Given the description of an element on the screen output the (x, y) to click on. 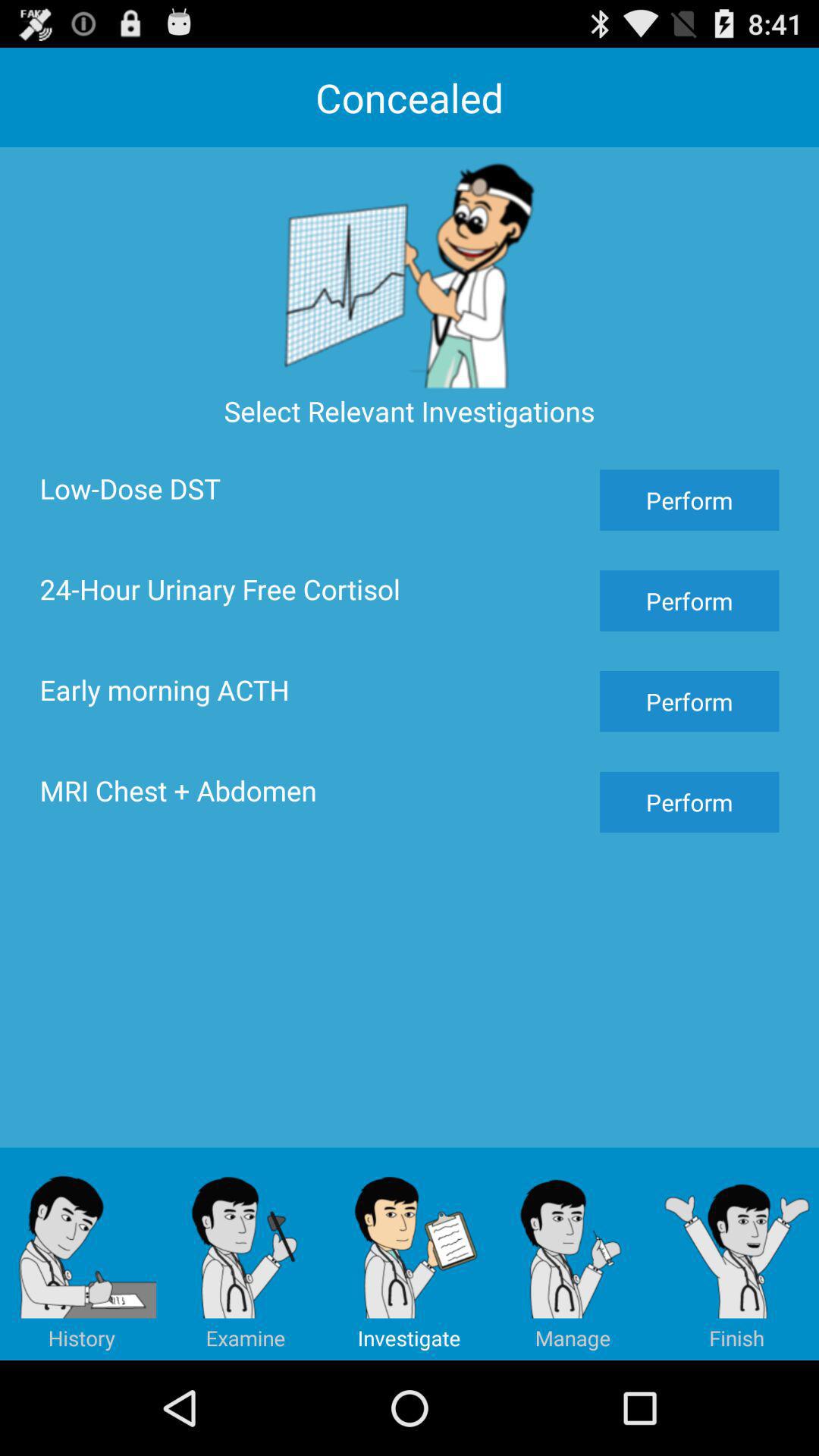
press app below the mri chest + abdomen app (245, 1253)
